Given the description of an element on the screen output the (x, y) to click on. 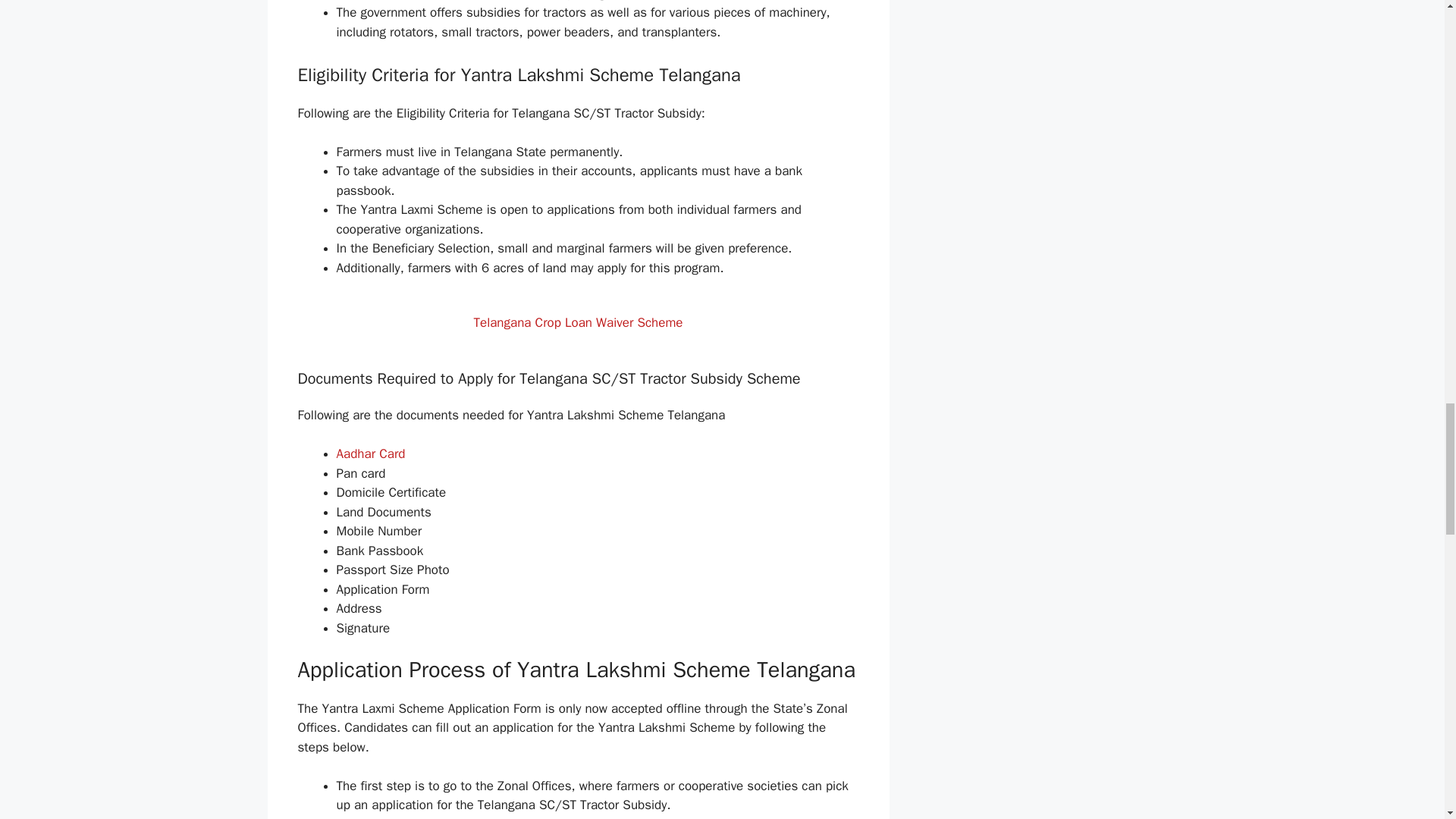
Telangana Crop Loan Waiver Scheme (577, 322)
Aadhar Card (371, 453)
